Given the description of an element on the screen output the (x, y) to click on. 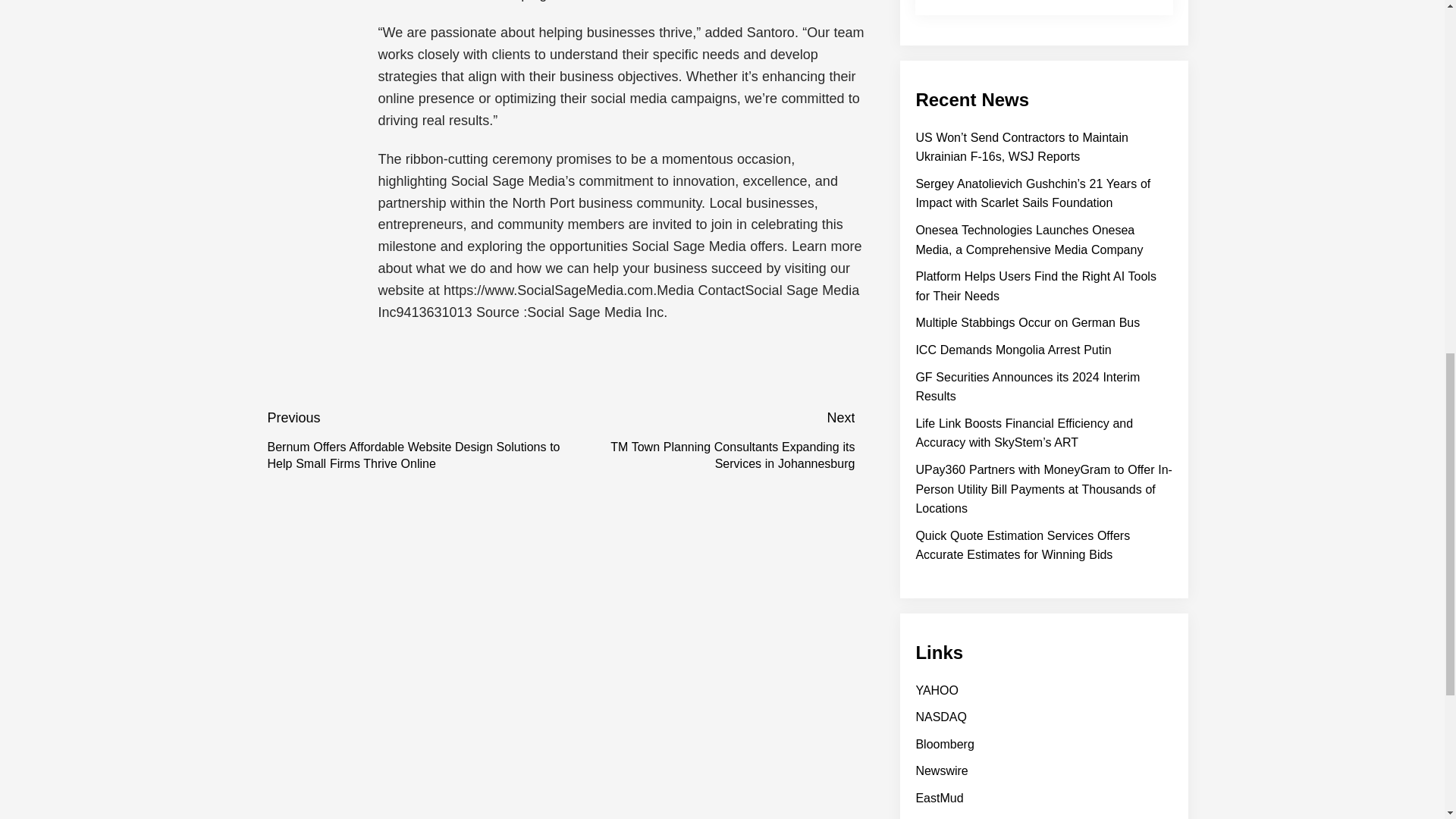
ICC Demands Mongolia Arrest Putin (1012, 349)
Multiple Stabbings Occur on German Bus (1027, 322)
YAHOO (936, 689)
GF Securities Announces its 2024 Interim Results (1027, 387)
Platform Helps Users Find the Right AI Tools for Their Needs (1035, 286)
